Given the description of an element on the screen output the (x, y) to click on. 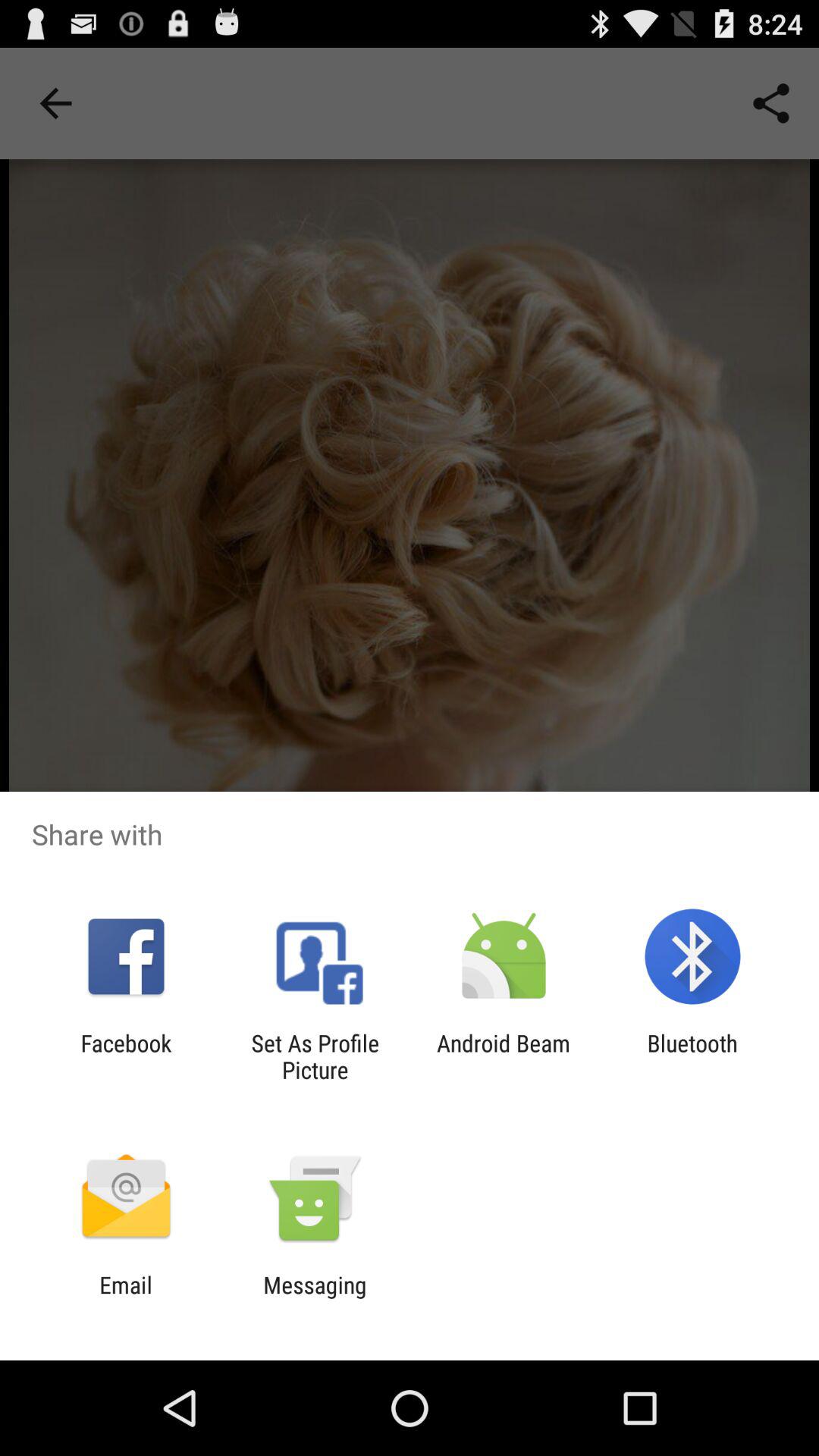
open the app next to the set as profile app (503, 1056)
